Given the description of an element on the screen output the (x, y) to click on. 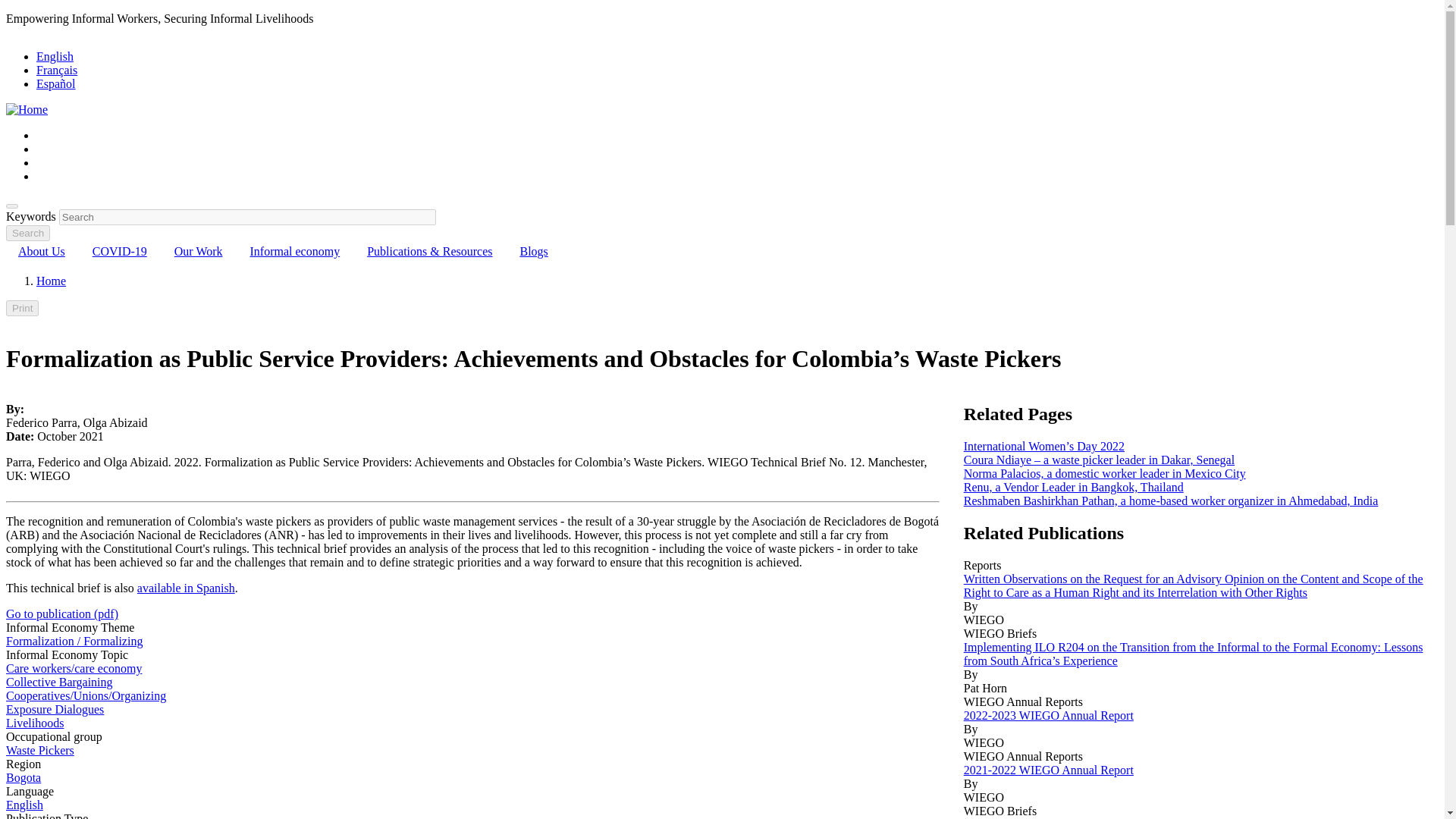
Search (27, 232)
About Us (41, 251)
Our Work (197, 251)
Print (22, 308)
COVID-19 (119, 251)
English (55, 56)
Search (11, 205)
Home (26, 109)
